Given the description of an element on the screen output the (x, y) to click on. 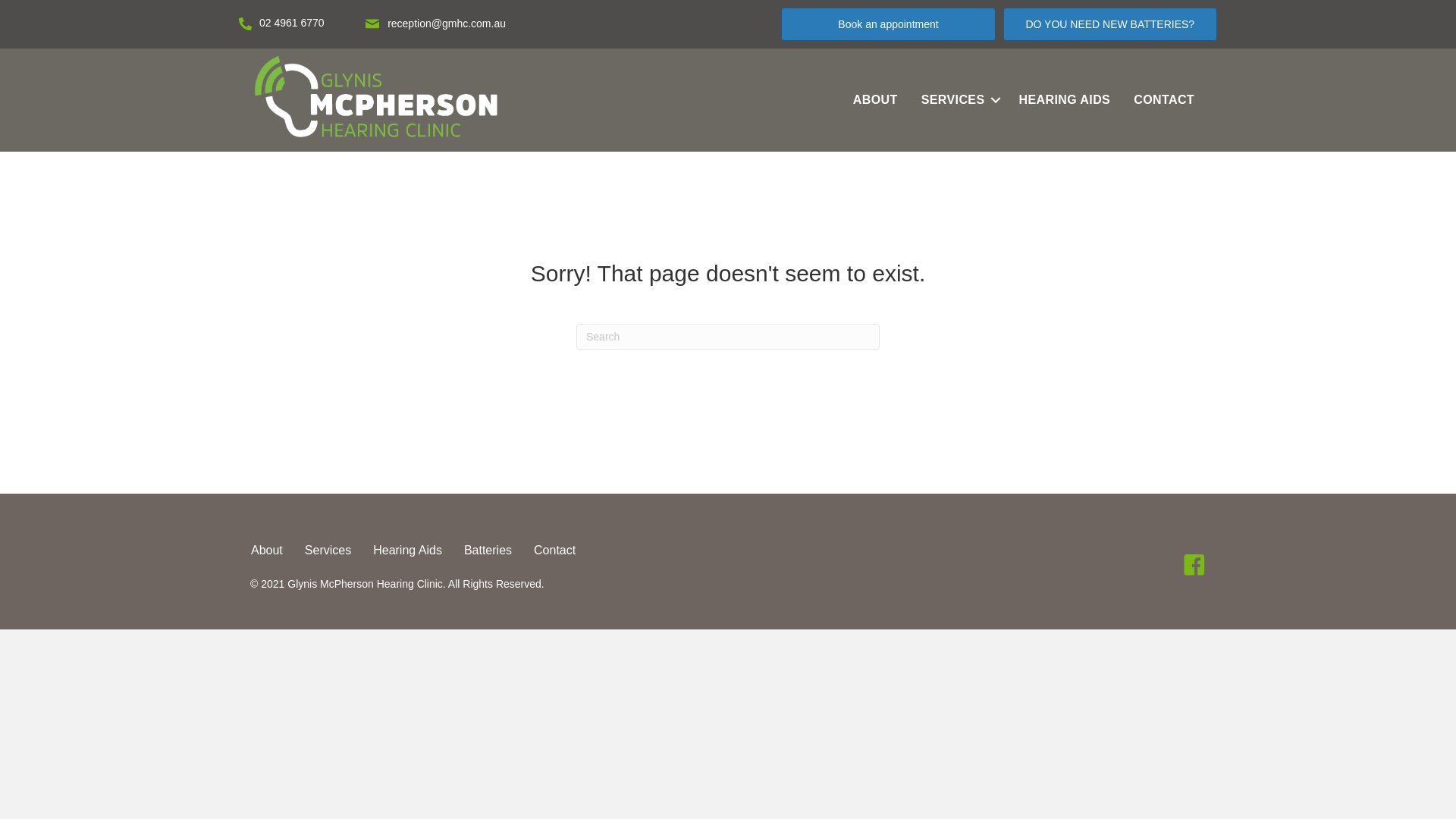
CONTACT Element type: text (1163, 99)
SERVICES Element type: text (958, 99)
Batteries Element type: text (487, 550)
Book an appointment Element type: text (887, 23)
Type and press Enter to search. Element type: hover (727, 336)
DO YOU NEED NEW BATTERIES? Element type: text (1110, 23)
reception@gmhc.com.au Element type: text (446, 22)
Services Element type: text (327, 550)
Hearing Aids Element type: text (407, 550)
About Element type: text (266, 550)
GLY002247_Logo_FA Element type: hover (376, 98)
ABOUT Element type: text (875, 99)
HEARING AIDS Element type: text (1064, 99)
Contact Element type: text (554, 550)
02 4961 6770 Element type: text (291, 22)
